Given the description of an element on the screen output the (x, y) to click on. 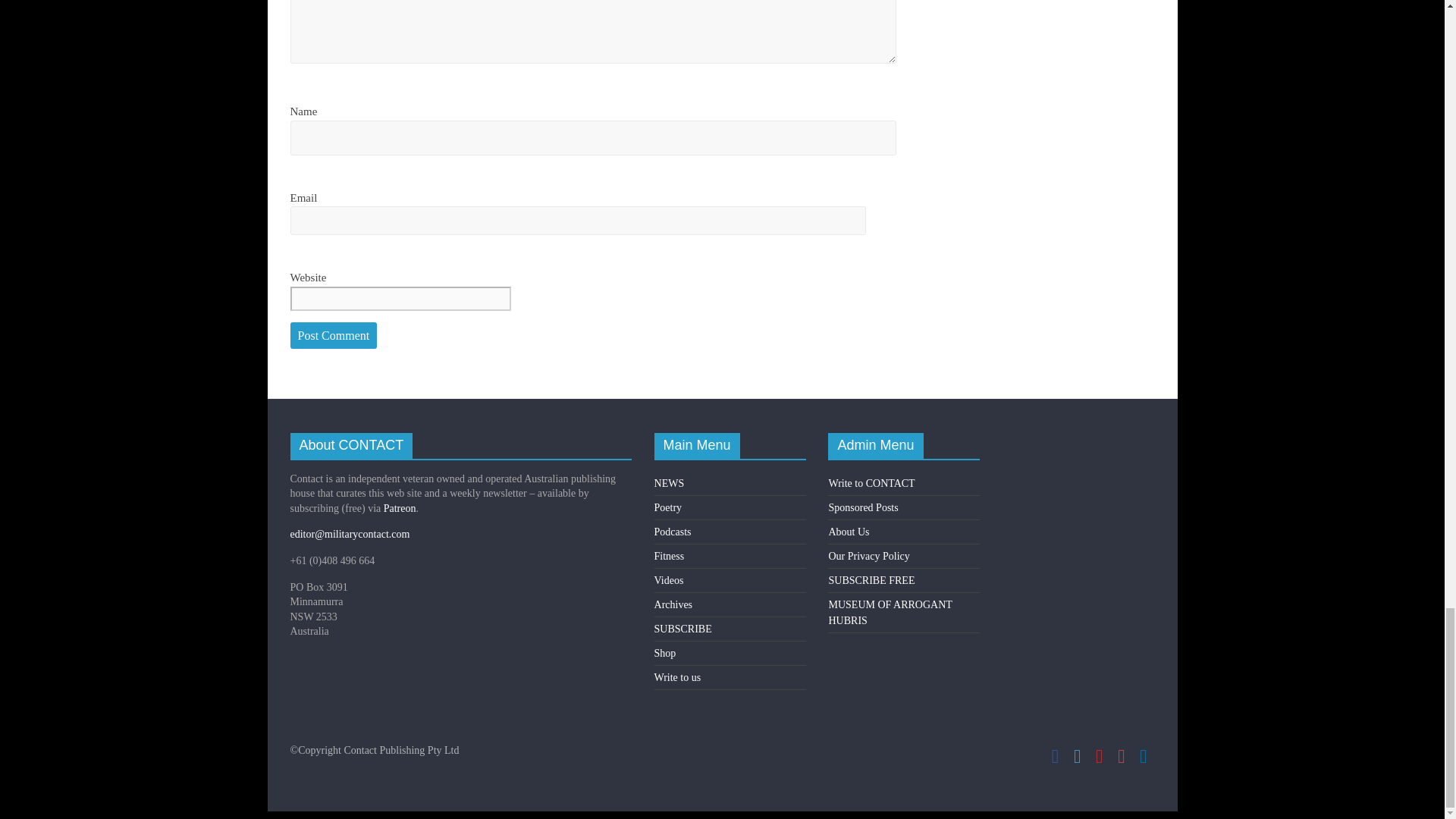
Post Comment (333, 334)
